Given the description of an element on the screen output the (x, y) to click on. 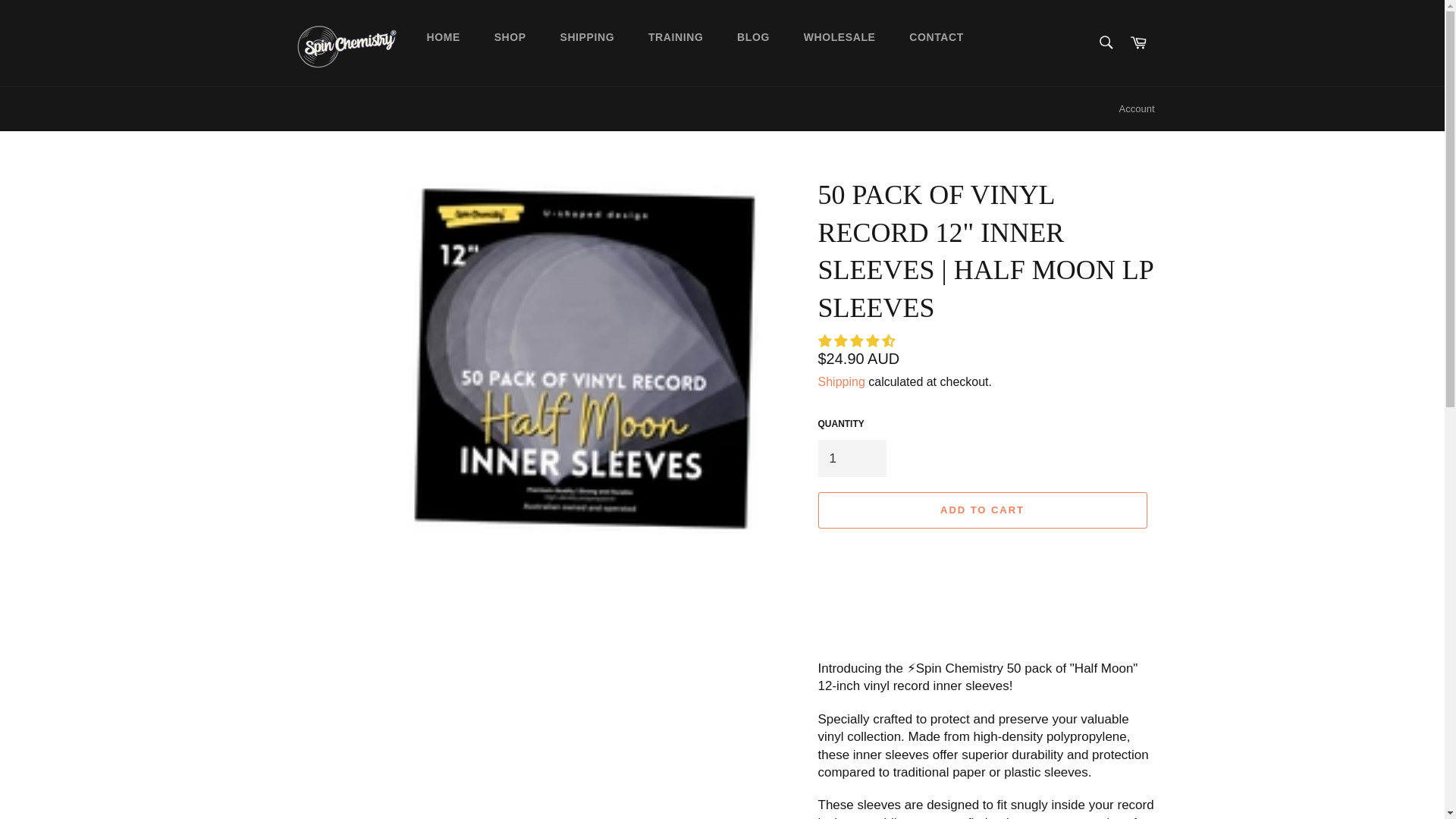
1 (850, 457)
Cart (1138, 43)
HOME (442, 37)
WHOLESALE (840, 37)
SHOP (510, 37)
SHIPPING (586, 37)
ADD TO CART (981, 510)
BLOG (753, 37)
Shipping (840, 381)
Search (1104, 42)
